Given the description of an element on the screen output the (x, y) to click on. 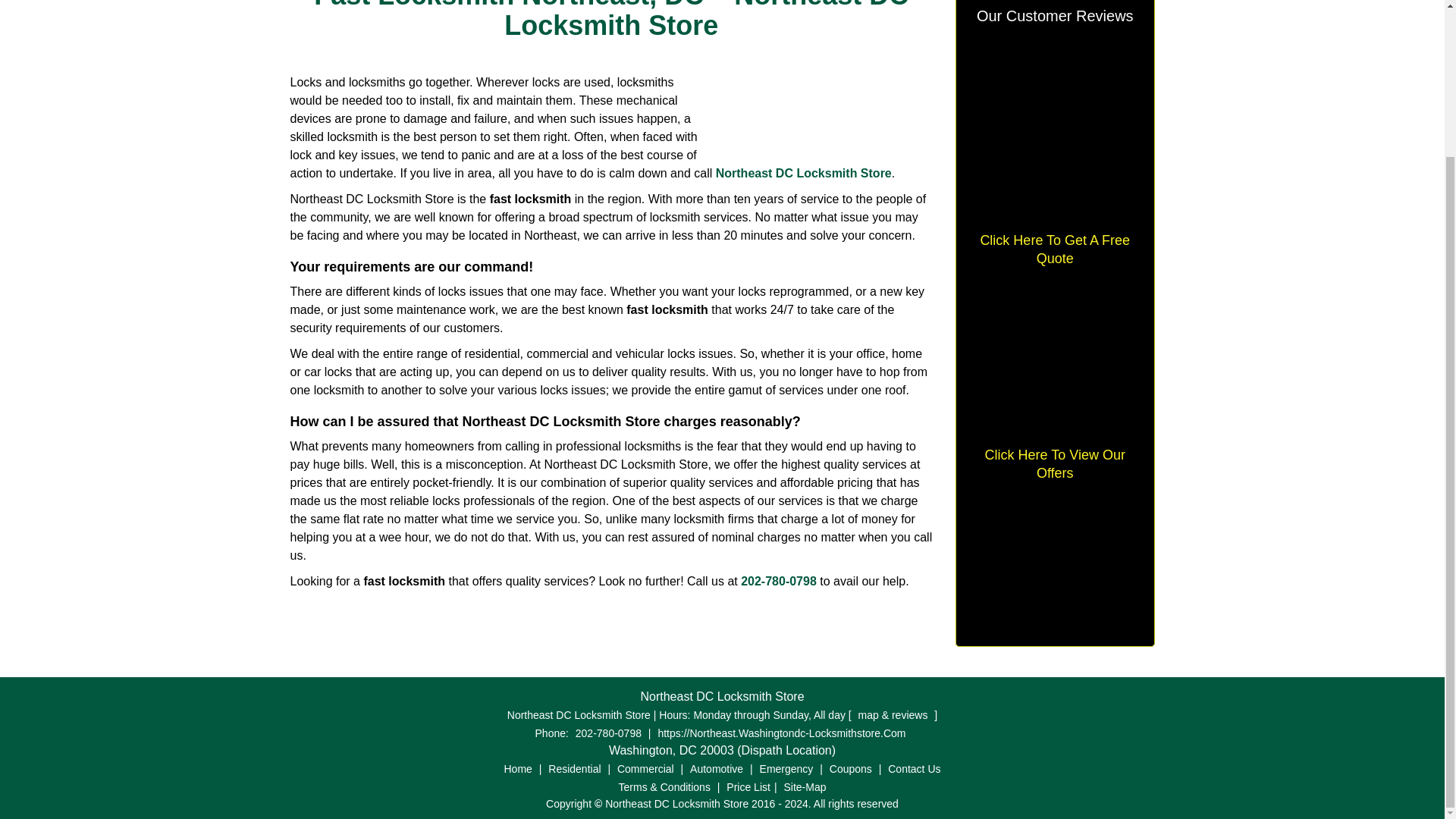
Coupons (850, 768)
Emergency (785, 768)
202-780-0798 (778, 581)
Commercial (645, 768)
Click Here To View Our Offers (1054, 463)
Residential (574, 768)
Click Here To Get A Free Quote (1054, 248)
Price List (748, 787)
202-780-0798 (608, 733)
Automotive (715, 768)
